Given the description of an element on the screen output the (x, y) to click on. 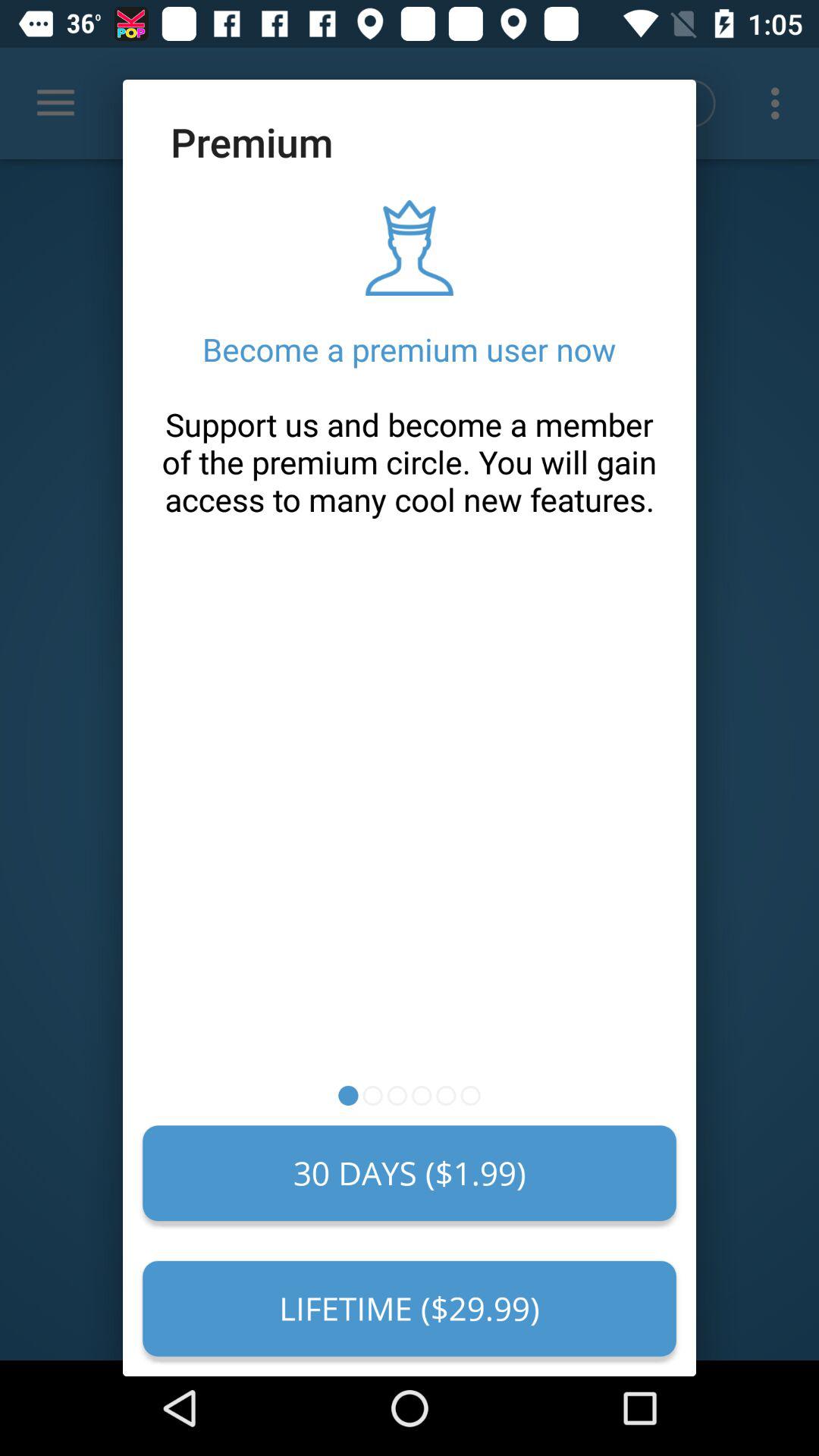
turn off icon above lifetime ($29.99) (409, 1173)
